Given the description of an element on the screen output the (x, y) to click on. 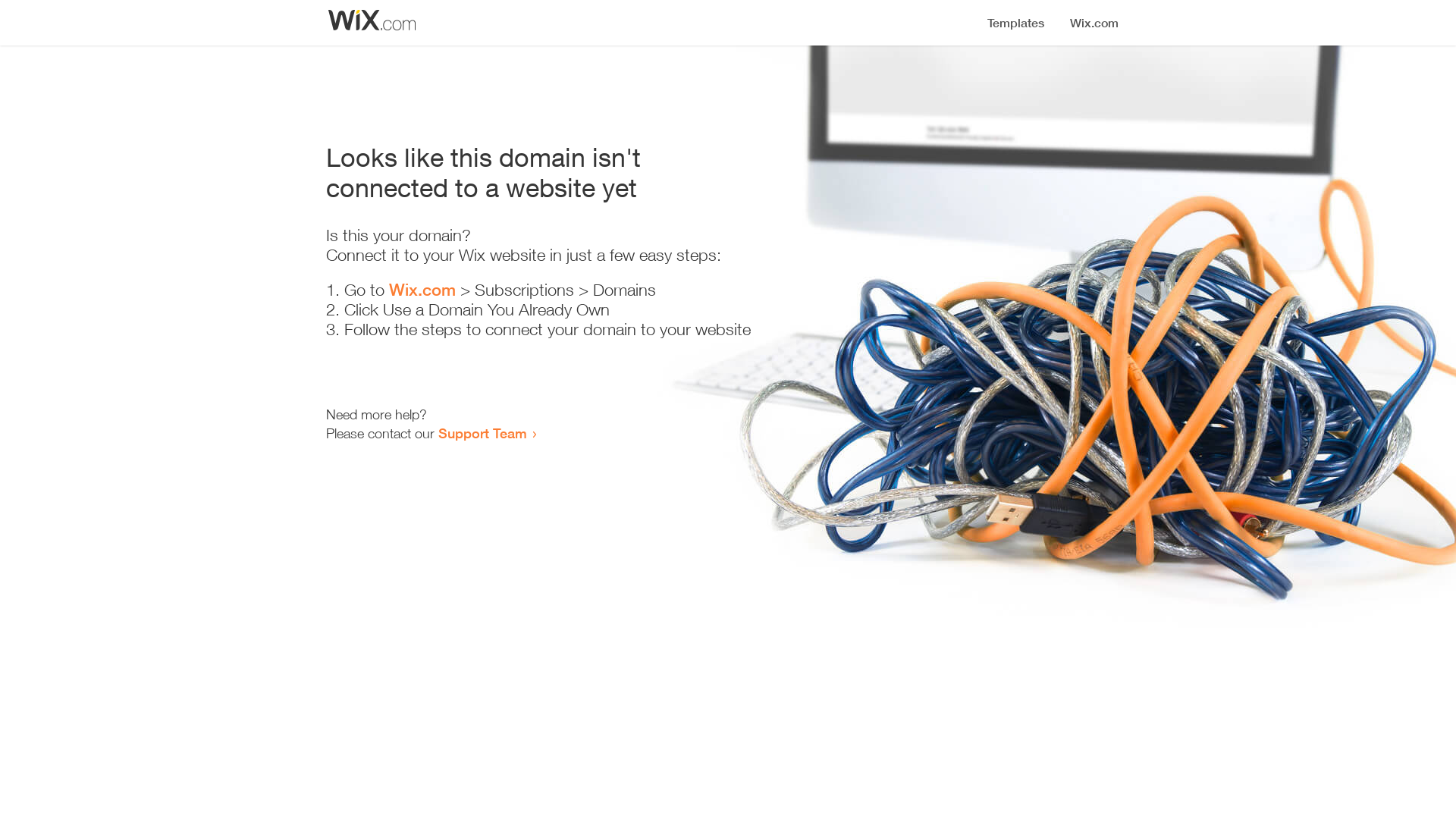
Wix.com Element type: text (422, 289)
Support Team Element type: text (482, 432)
